Given the description of an element on the screen output the (x, y) to click on. 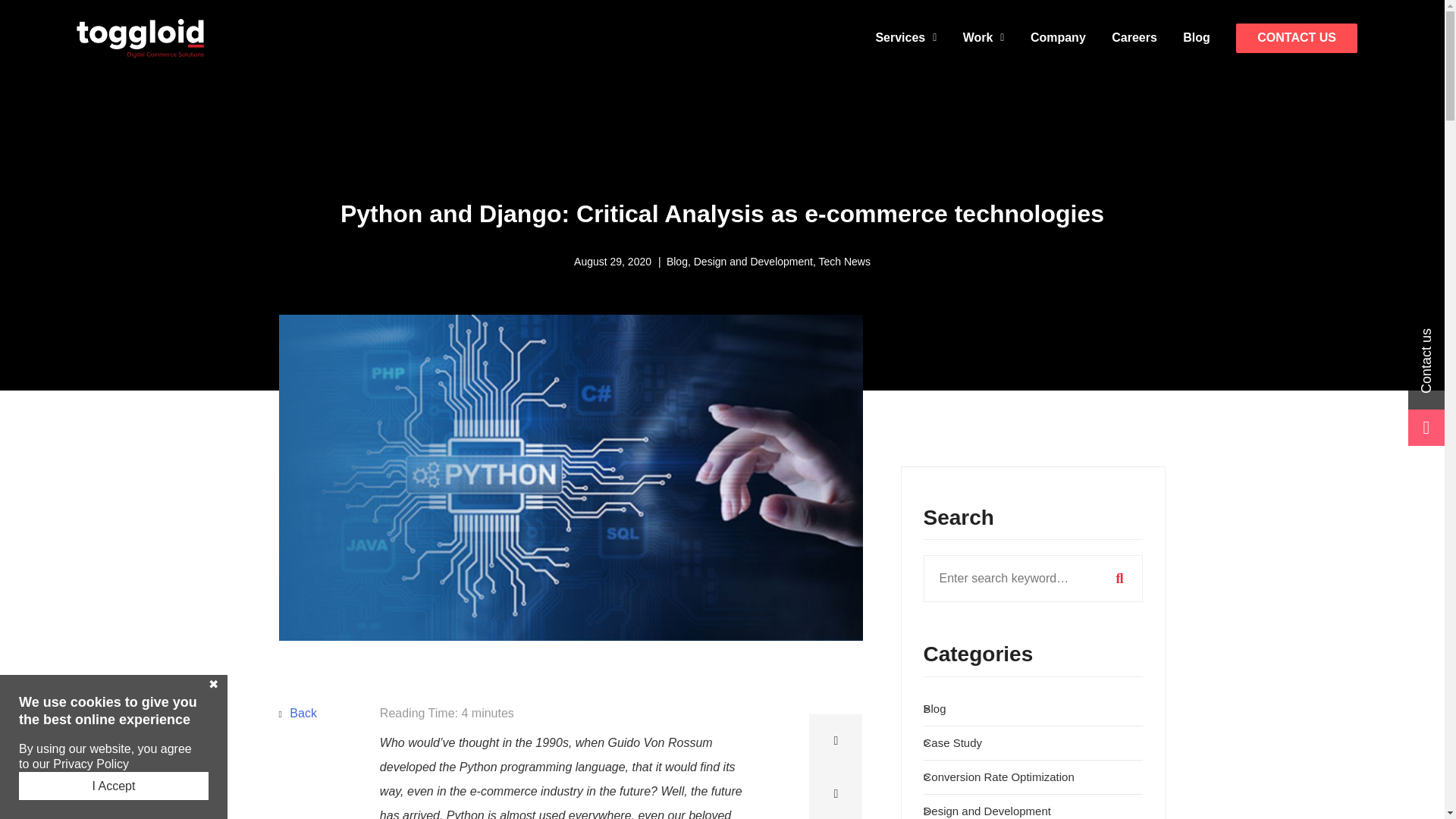
Search for: (1032, 578)
Services (905, 38)
